Given the description of an element on the screen output the (x, y) to click on. 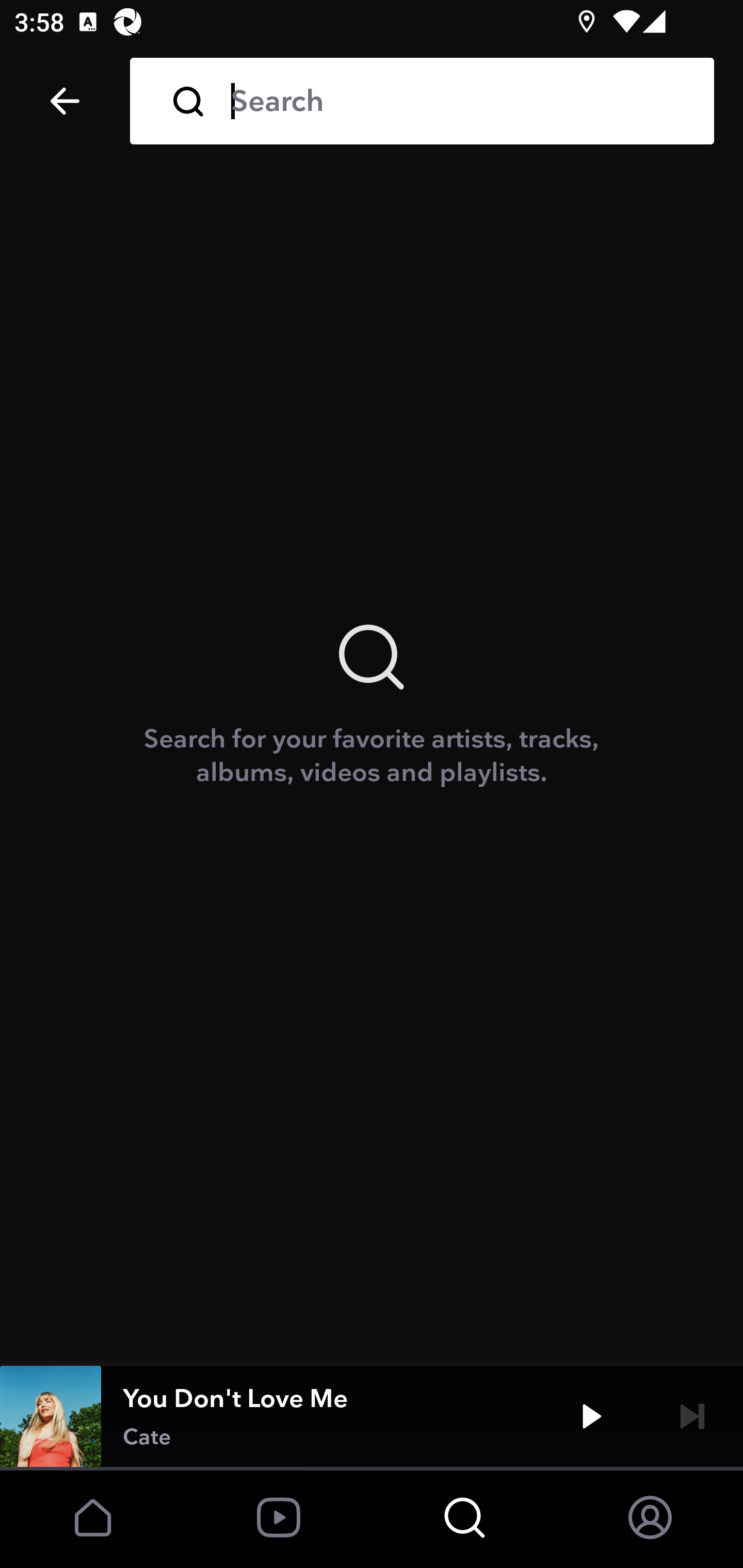
Search (457, 100)
You Don't Love Me Cate Play (371, 1416)
Play (590, 1416)
